Given the description of an element on the screen output the (x, y) to click on. 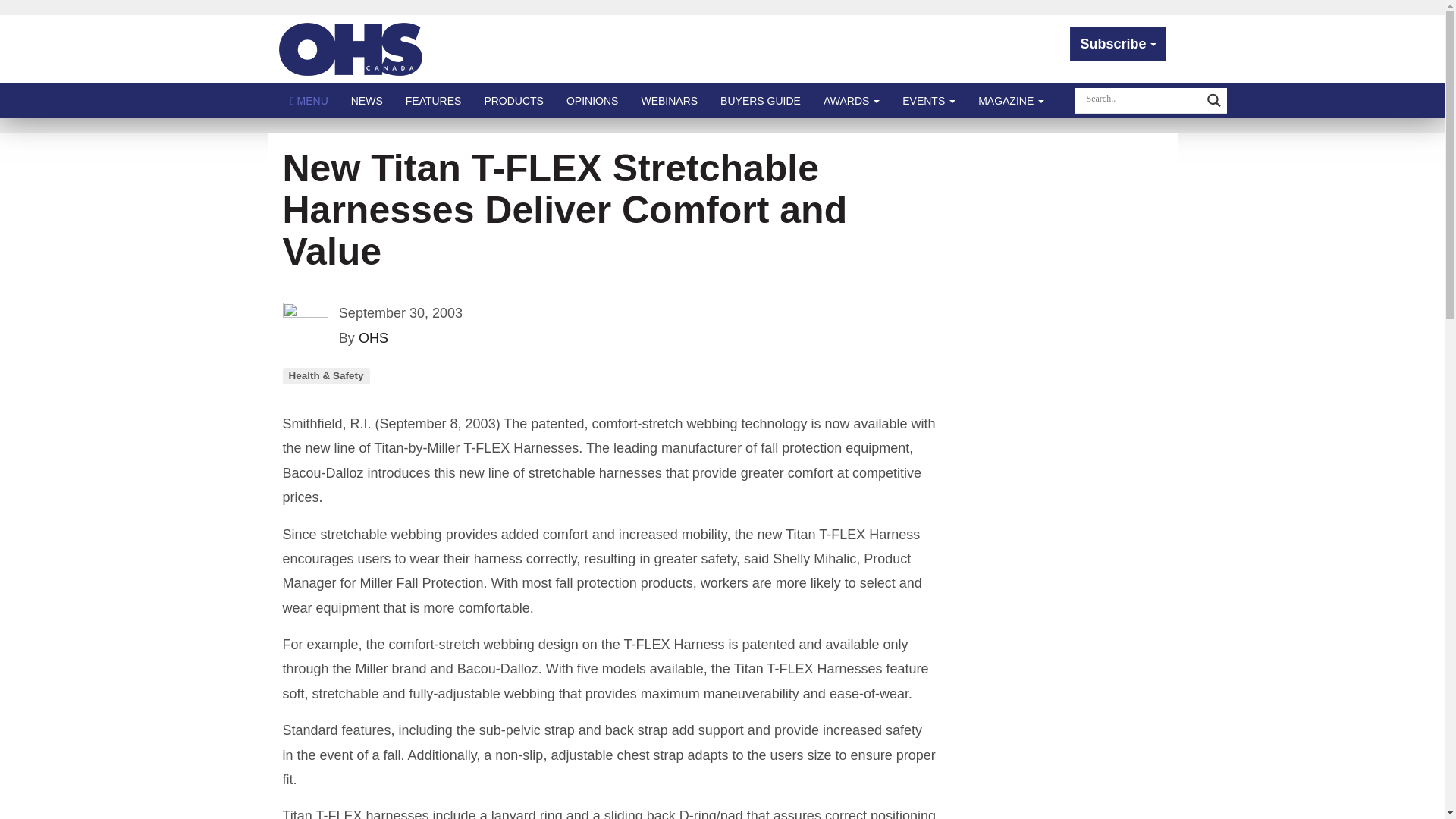
OHS Canada Magazine (351, 48)
MAGAZINE (1010, 100)
FEATURES (433, 100)
MENU (309, 100)
Click to show site navigation (309, 100)
AWARDS (851, 100)
OPINIONS (591, 100)
BUYERS GUIDE (760, 100)
EVENTS (928, 100)
Subscribe (1118, 43)
